Given the description of an element on the screen output the (x, y) to click on. 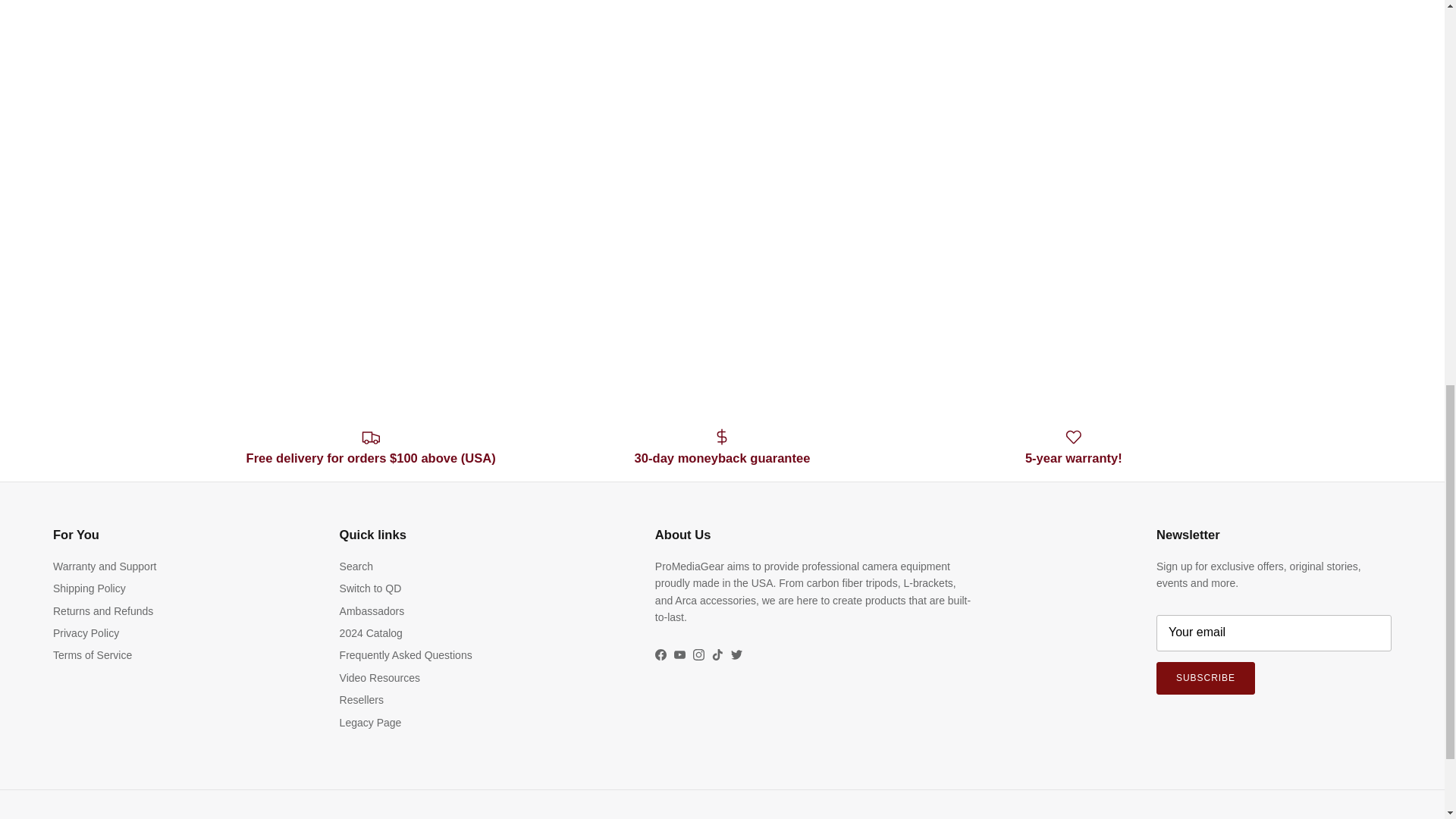
ProMediaGear on TikTok (717, 654)
ProMediaGear on Facebook (660, 654)
ProMediaGear on YouTube (679, 654)
ProMediaGear on Twitter (736, 654)
ProMediaGear on Instagram (698, 654)
